Given the description of an element on the screen output the (x, y) to click on. 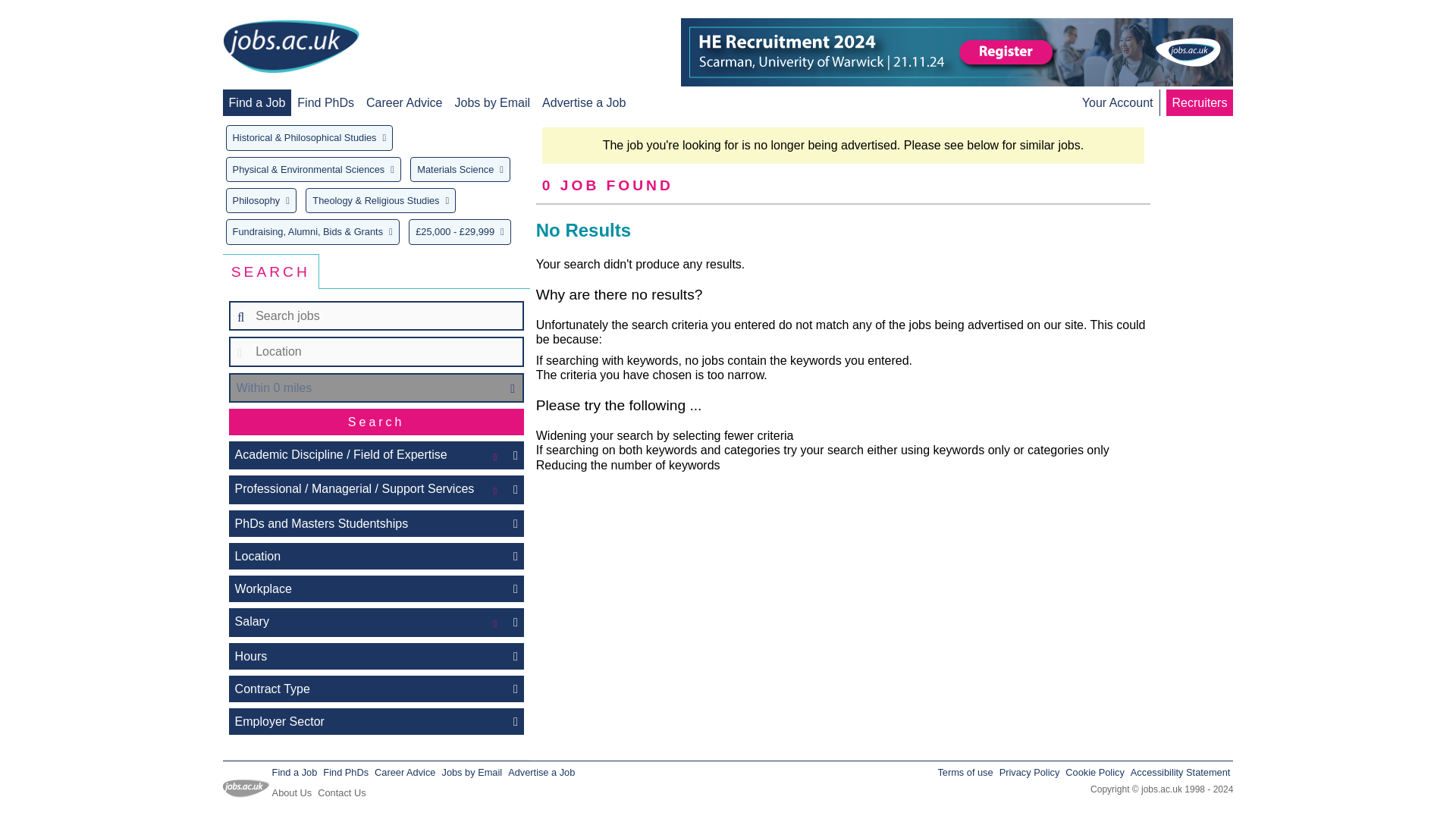
Your Account (1117, 102)
jobs.ac.uk - Great jobs for bright people (290, 45)
Career Advice (404, 102)
Recruiters (1199, 102)
Search (376, 421)
home page (290, 47)
Find PhDs (325, 102)
Find a Job (256, 102)
distance (376, 387)
Jobs by Email (492, 102)
